Given the description of an element on the screen output the (x, y) to click on. 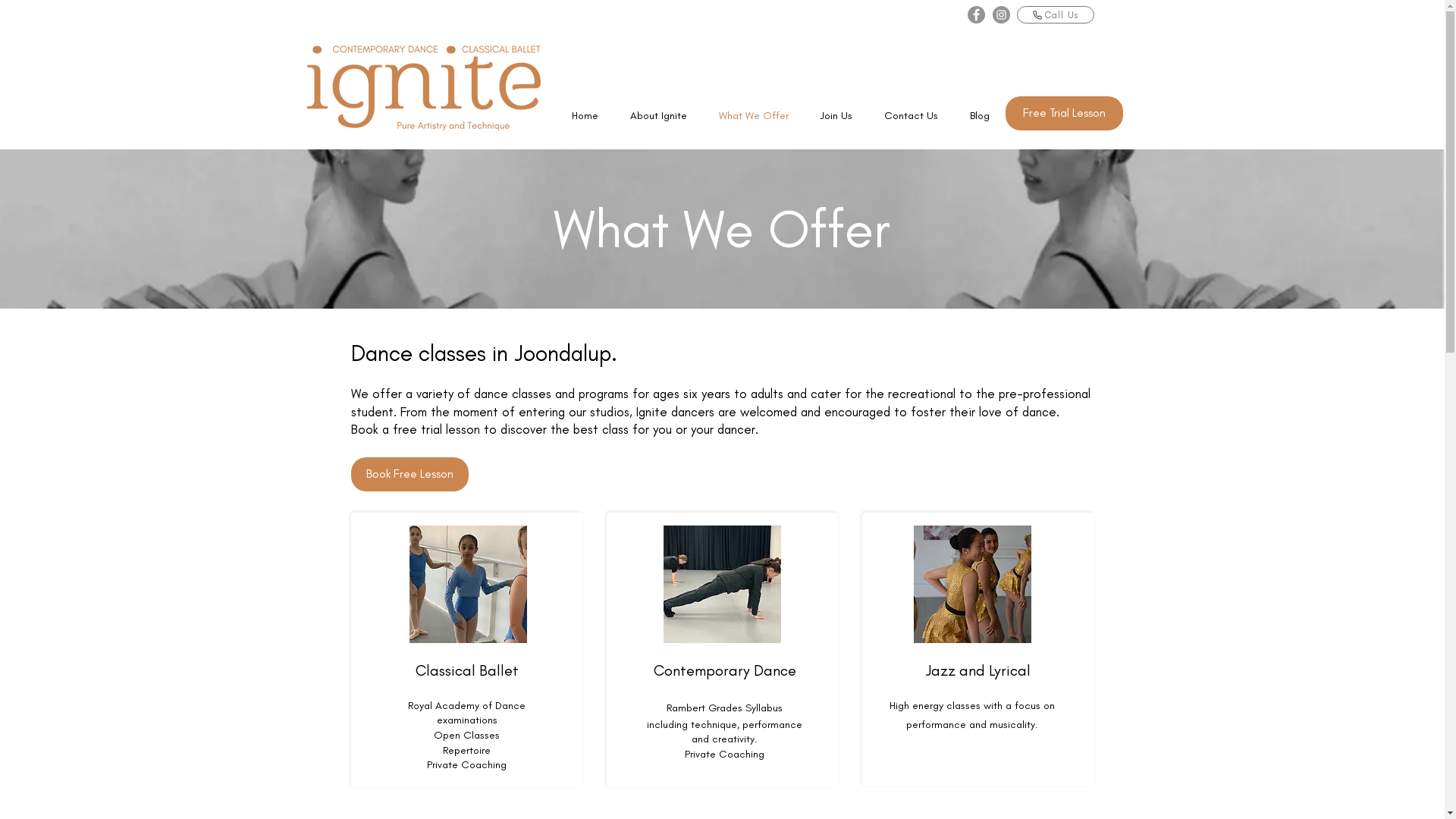
About Ignite Element type: text (657, 115)
Join Us Element type: text (835, 115)
Book Free Lesson Element type: text (408, 474)
Free Trial Lesson Element type: text (1064, 113)
What We Offer Element type: text (753, 115)
Call Us Element type: text (1054, 14)
Contact Us Element type: text (910, 115)
Home Element type: text (584, 115)
Blog Element type: text (978, 115)
